Given the description of an element on the screen output the (x, y) to click on. 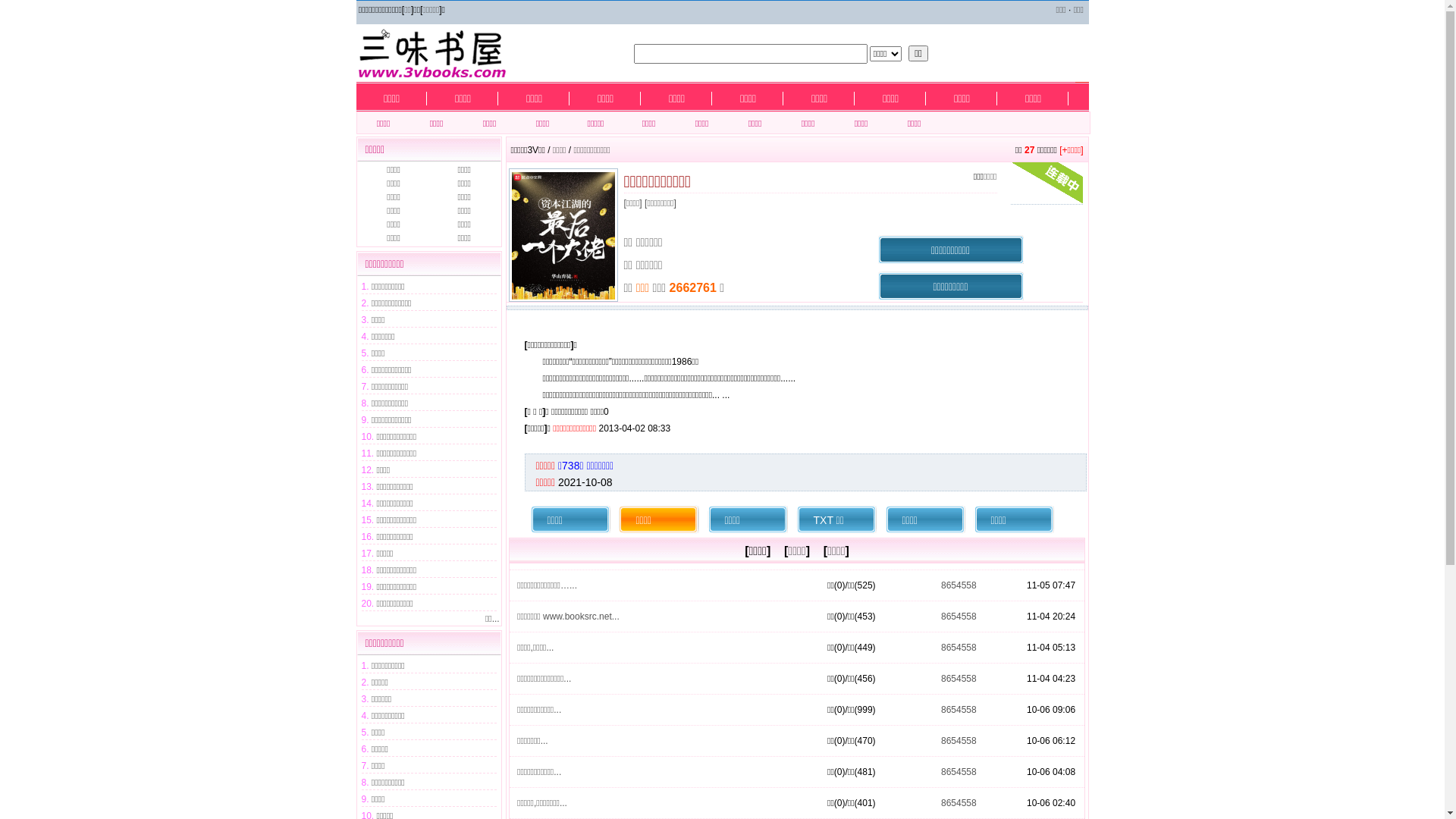
8654558 Element type: text (958, 740)
8654558 Element type: text (958, 802)
8654558 Element type: text (958, 647)
8654558 Element type: text (958, 709)
8654558 Element type: text (958, 771)
8654558 Element type: text (958, 616)
8654558 Element type: text (958, 678)
8654558 Element type: text (958, 585)
